Given the description of an element on the screen output the (x, y) to click on. 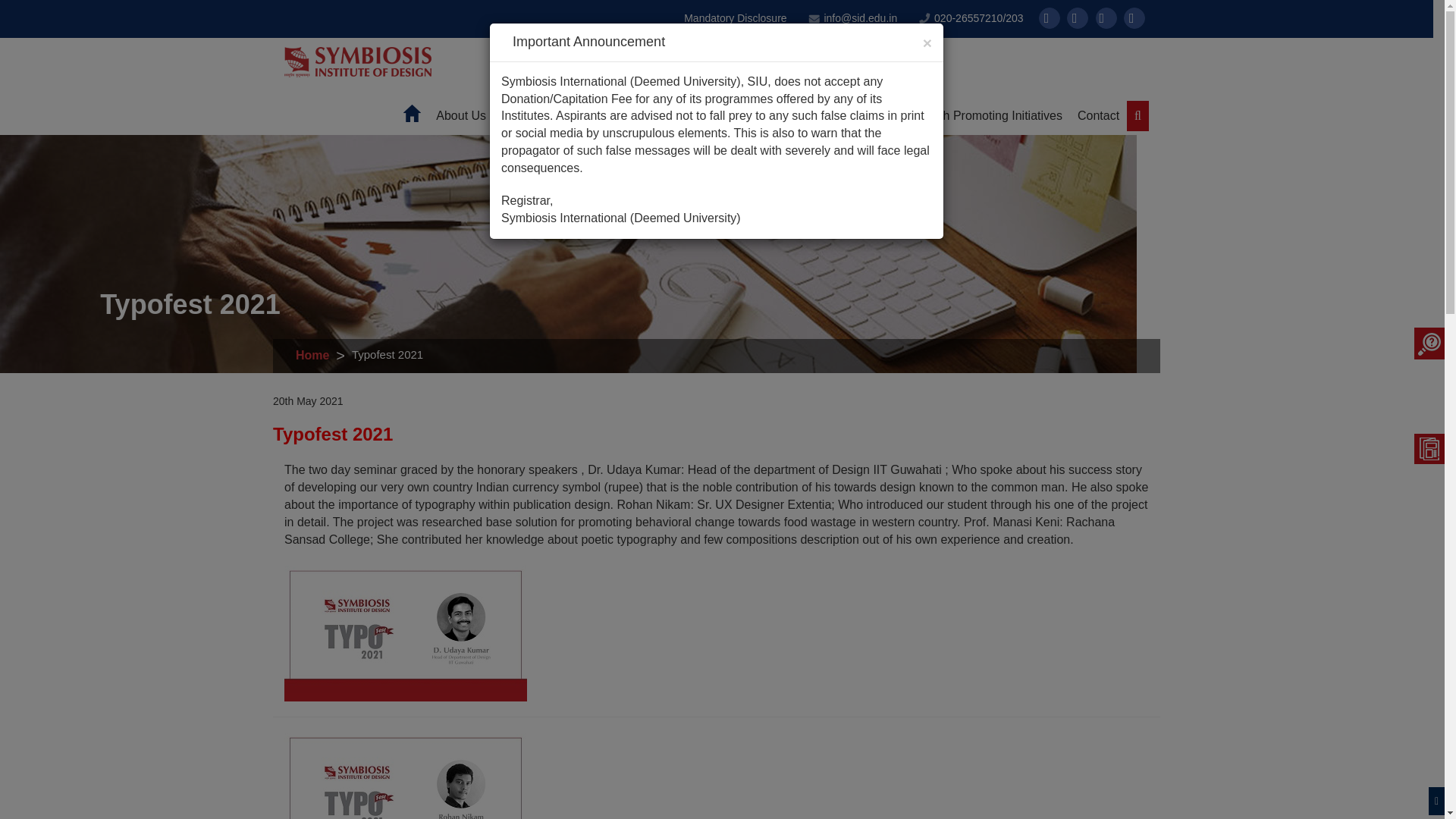
Enquiry (1429, 343)
Symbiosis Institute of Design (356, 61)
Mandatory Disclosure (735, 18)
Contact (1098, 117)
Facebook (1049, 17)
LinkedIn (1134, 17)
Download Brochure (1429, 448)
Instagram (1077, 17)
About Us (460, 117)
Programmes (535, 117)
Alumni (682, 117)
YouTube (1106, 17)
